Given the description of an element on the screen output the (x, y) to click on. 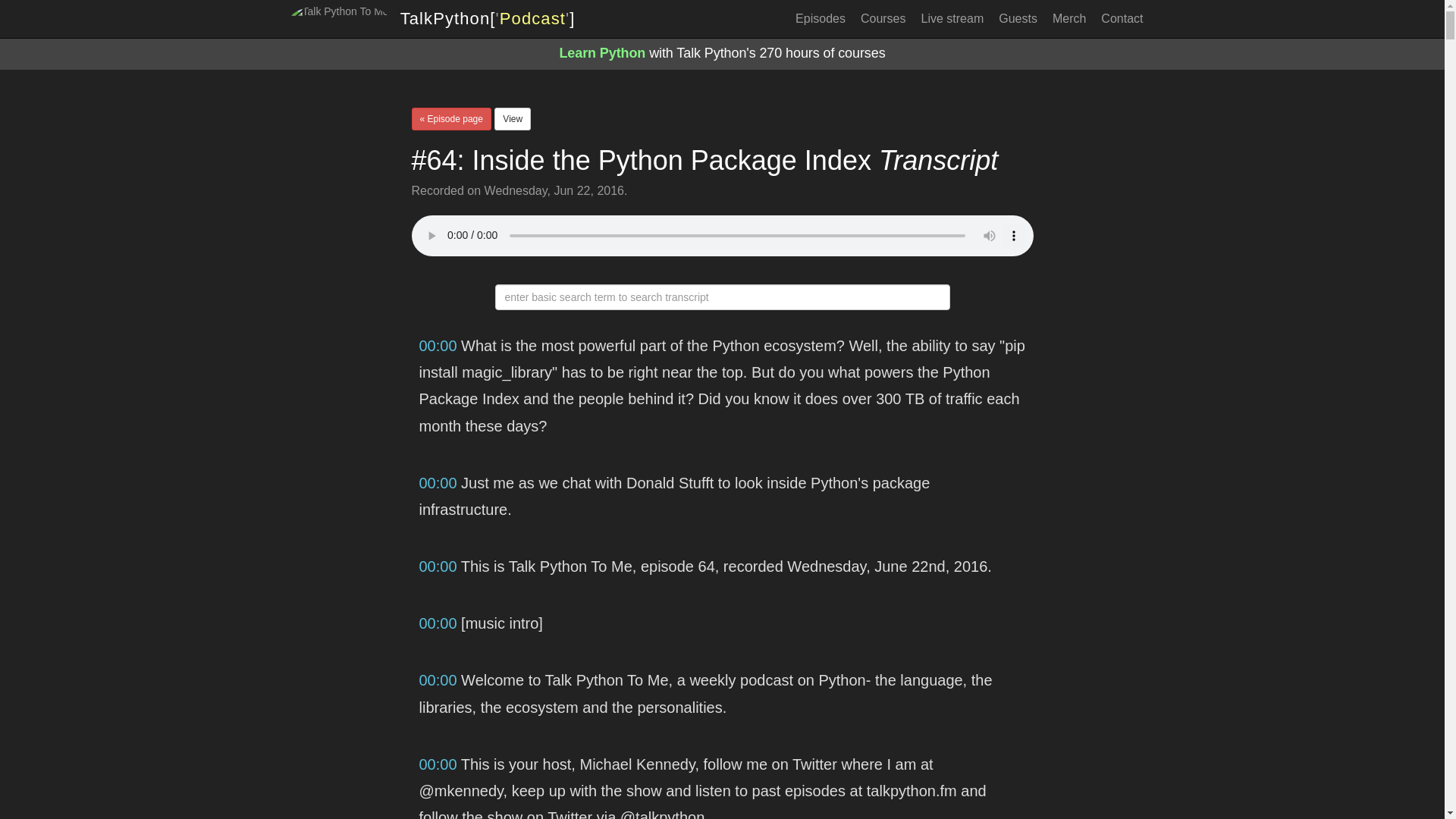
00:00 (438, 565)
Live stream (952, 18)
Play this episode at 00:00 (438, 764)
00:00 (438, 679)
00:00 (438, 345)
Play this episode at 00:00 (438, 483)
Play this episode at 00:00 (438, 623)
00:00 (438, 623)
View (513, 118)
Play this episode at 00:00 (438, 679)
